Given the description of an element on the screen output the (x, y) to click on. 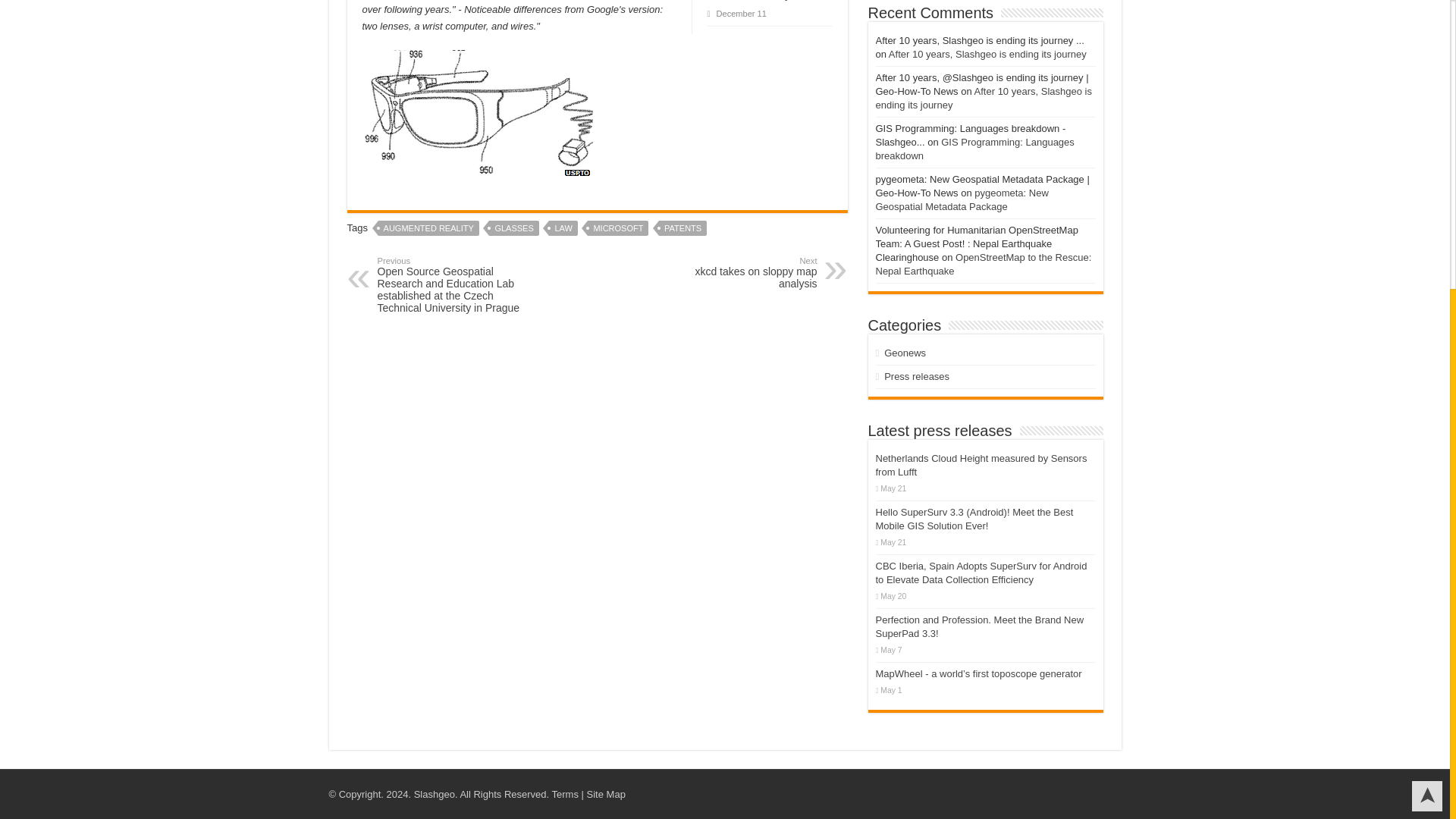
PATENTS (682, 227)
GLASSES (513, 227)
LAW (562, 227)
AUGMENTED REALITY (738, 272)
MICROSOFT (428, 227)
